Given the description of an element on the screen output the (x, y) to click on. 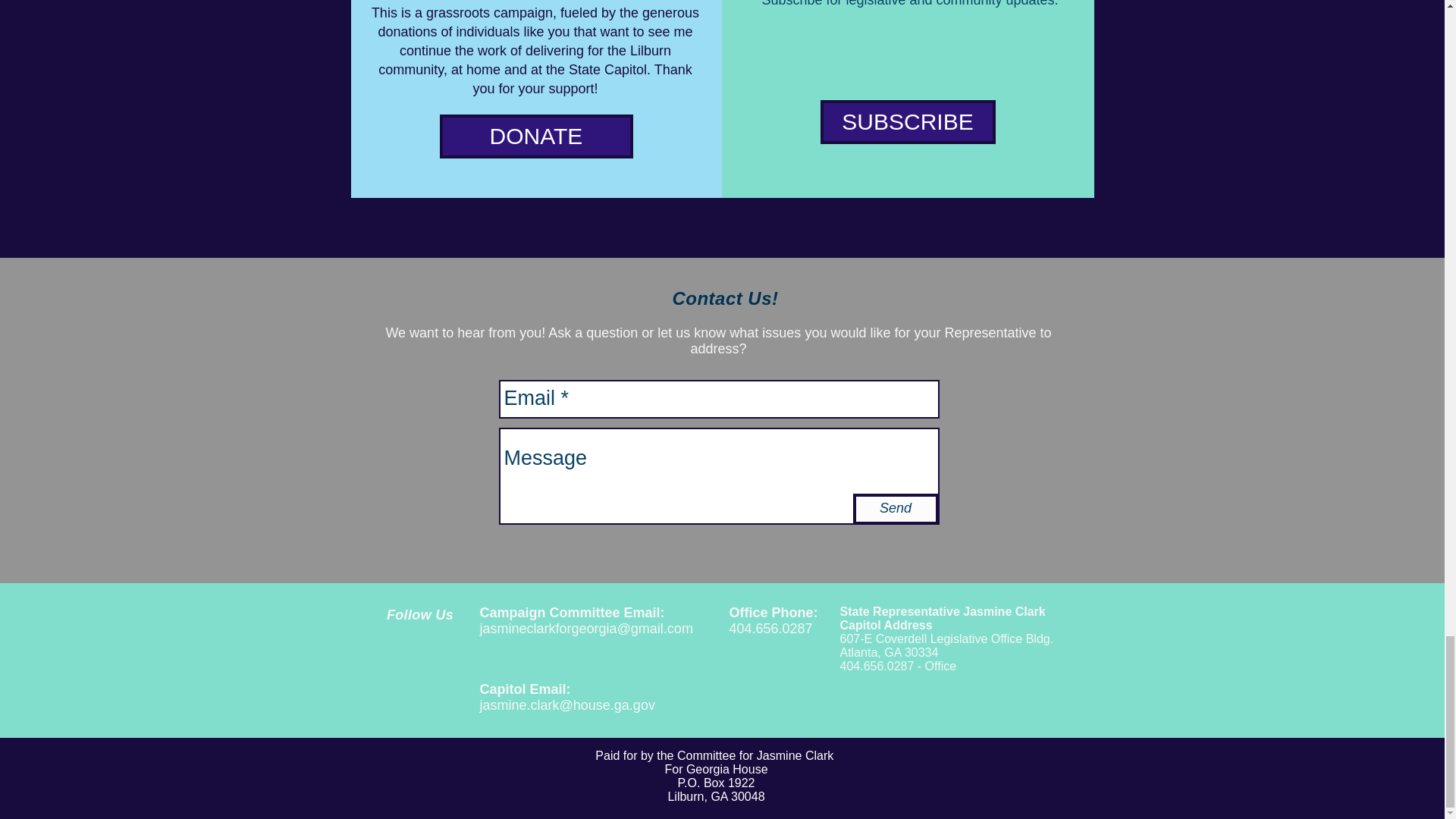
DONATE (536, 136)
Send (894, 508)
SUBSCRIBE (908, 121)
